Given the description of an element on the screen output the (x, y) to click on. 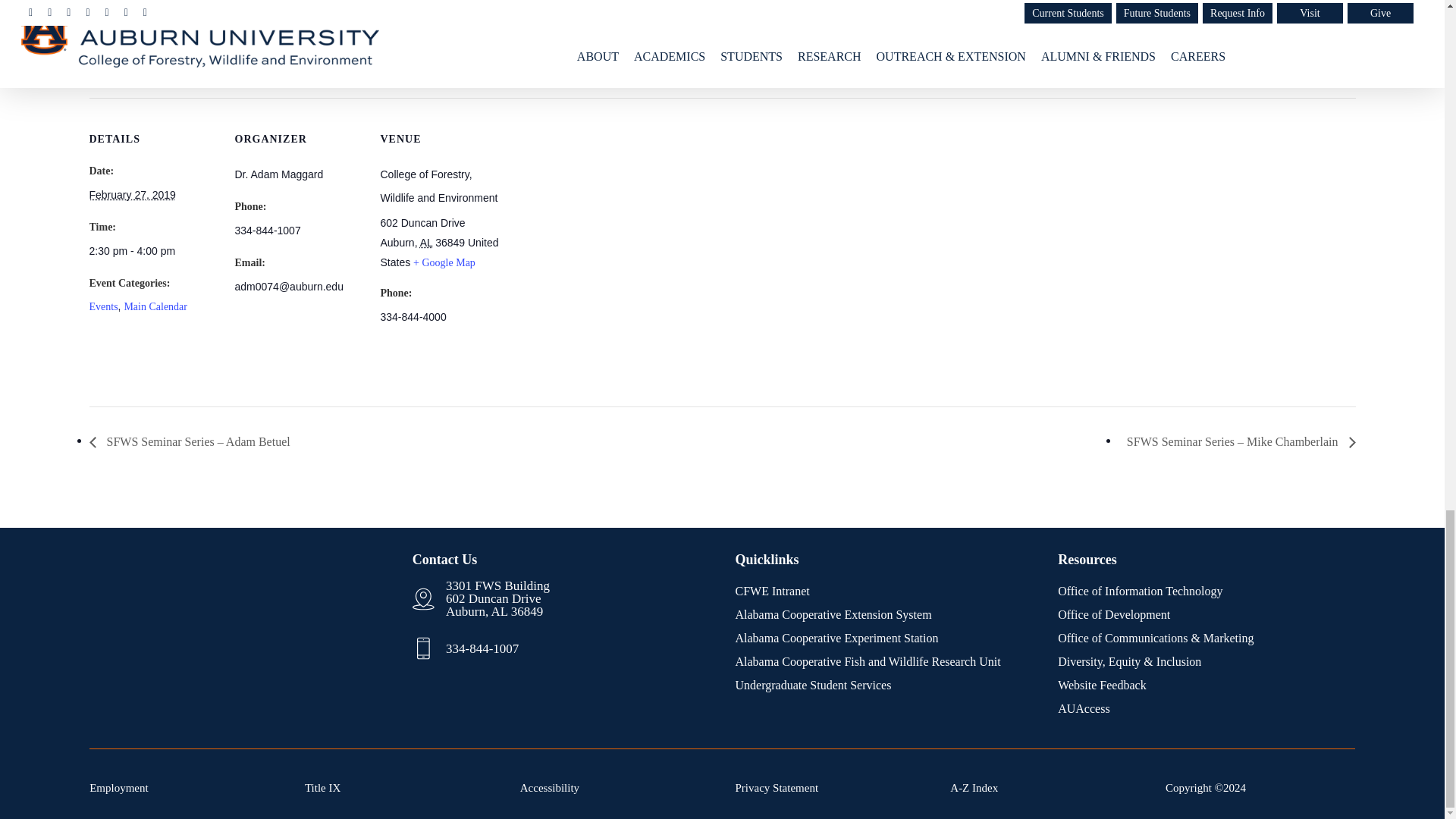
2019-02-27 (152, 250)
Alabama (426, 242)
2019-02-27 (132, 194)
Click to view a Google Map (444, 262)
